Given the description of an element on the screen output the (x, y) to click on. 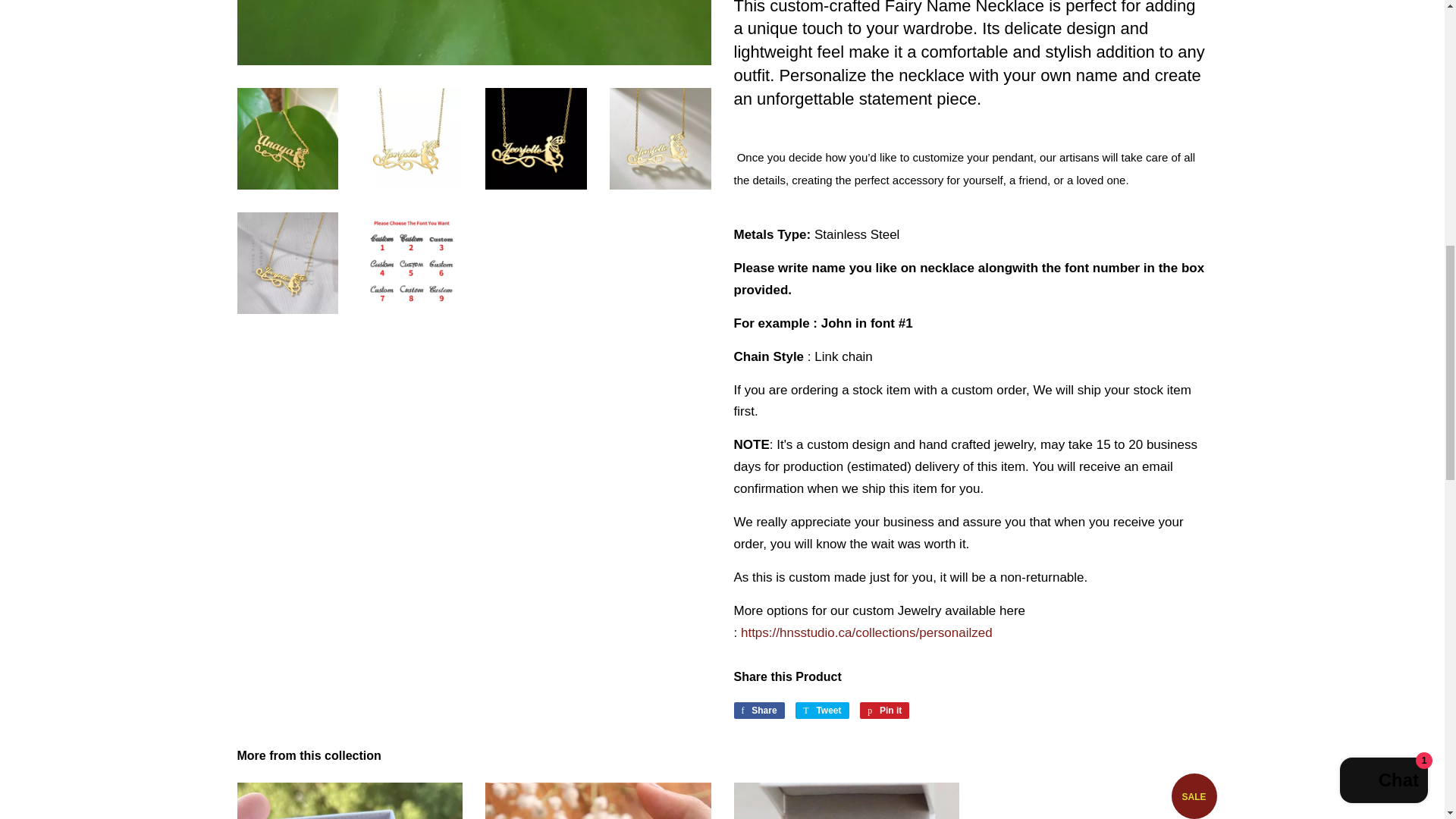
Tweet on Twitter (821, 710)
Personalized Collection HNS Studio (866, 632)
Pin on Pinterest (884, 710)
Share on Facebook (758, 710)
